Given the description of an element on the screen output the (x, y) to click on. 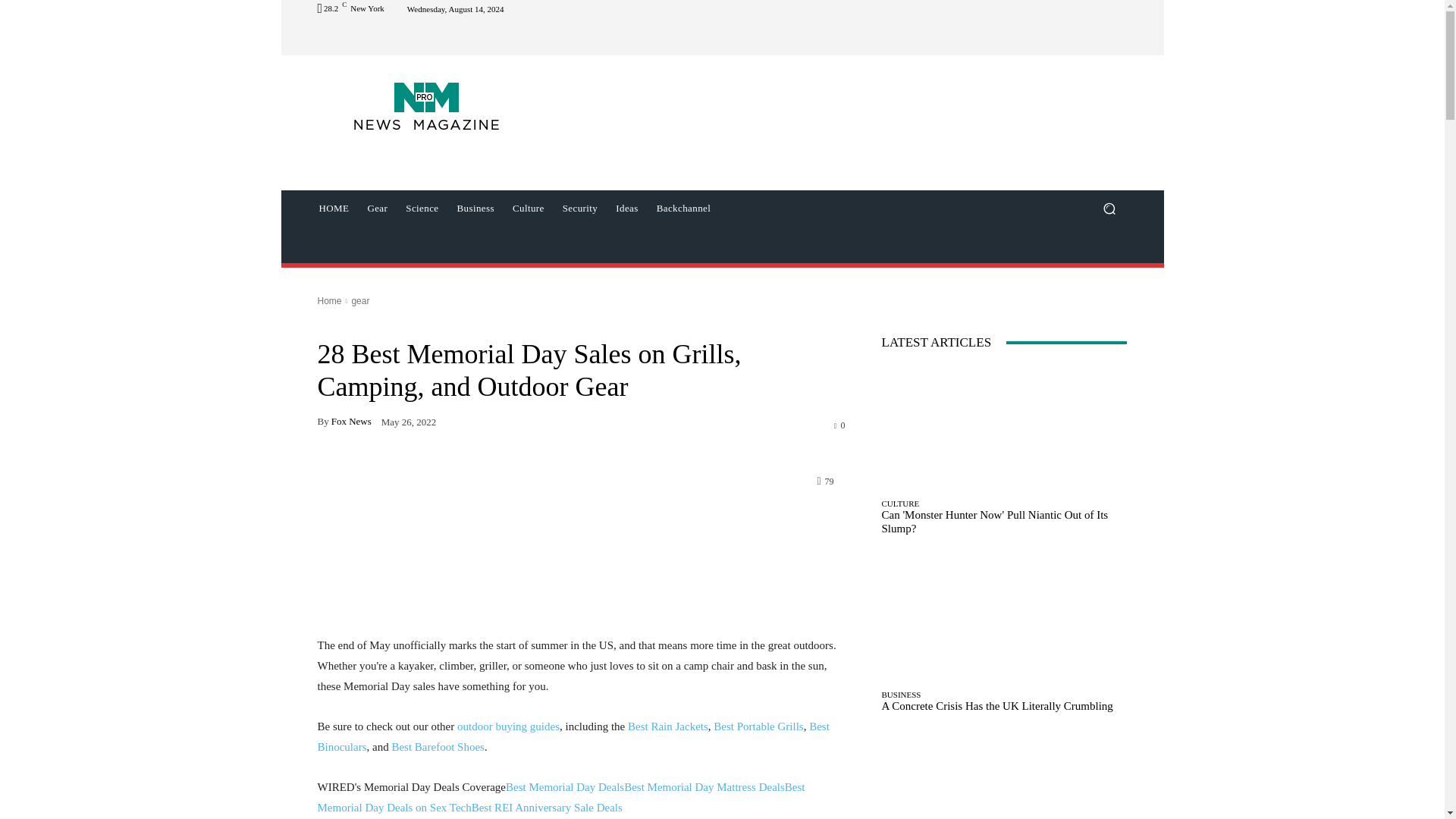
Fox News (351, 420)
Backchannel (683, 208)
Home (328, 300)
Security (580, 208)
gear (359, 300)
Business (474, 208)
HOME (333, 208)
Culture (528, 208)
0 (839, 424)
Gear (377, 208)
